Given the description of an element on the screen output the (x, y) to click on. 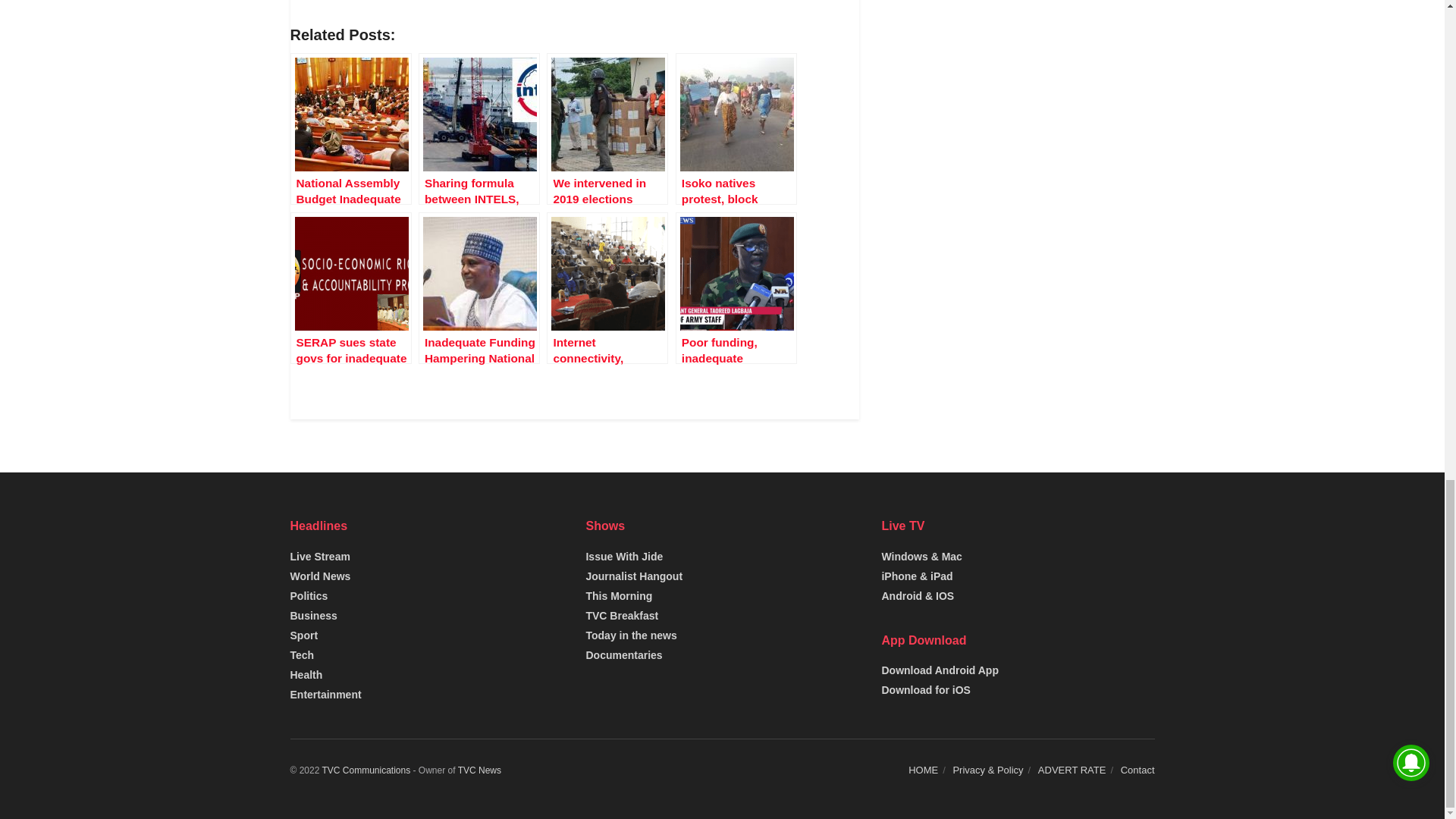
TVC News (479, 769)
